Given the description of an element on the screen output the (x, y) to click on. 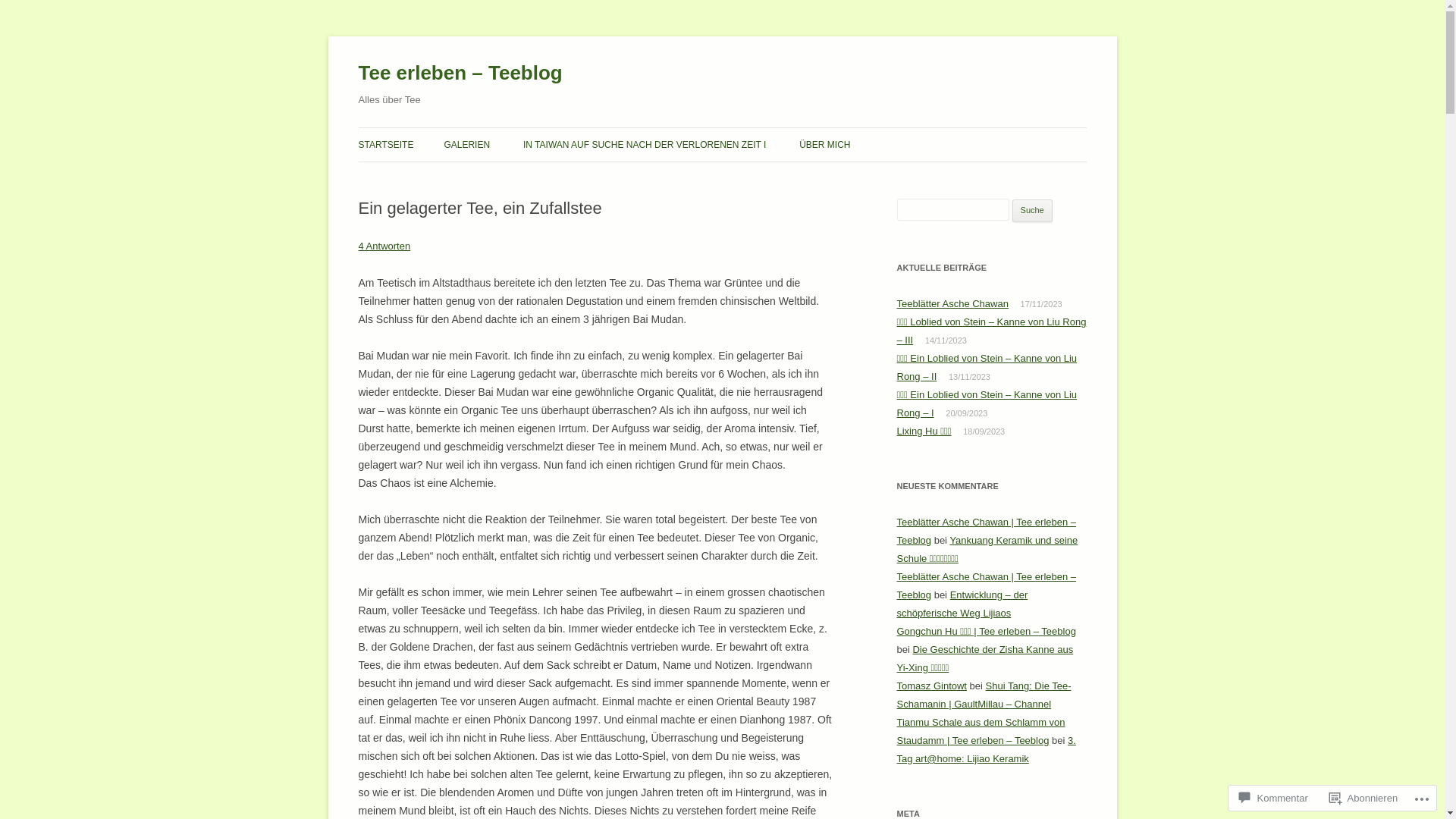
3. Tag art@home: Lijiao Keramik Element type: text (985, 749)
IN TAIWAN AUF SUCHE NACH DER VERLORENEN ZEIT I Element type: text (644, 144)
Tomasz Gintowt Element type: text (931, 685)
Zum Inhalt springen Element type: text (721, 127)
Kommentar Element type: text (1273, 797)
GALERIEN Element type: text (466, 144)
Abonnieren Element type: text (1363, 797)
TEEERNTE Element type: text (519, 176)
STARTSEITE Element type: text (385, 144)
4 Antworten Element type: text (383, 245)
Suche Element type: text (1032, 210)
